Given the description of an element on the screen output the (x, y) to click on. 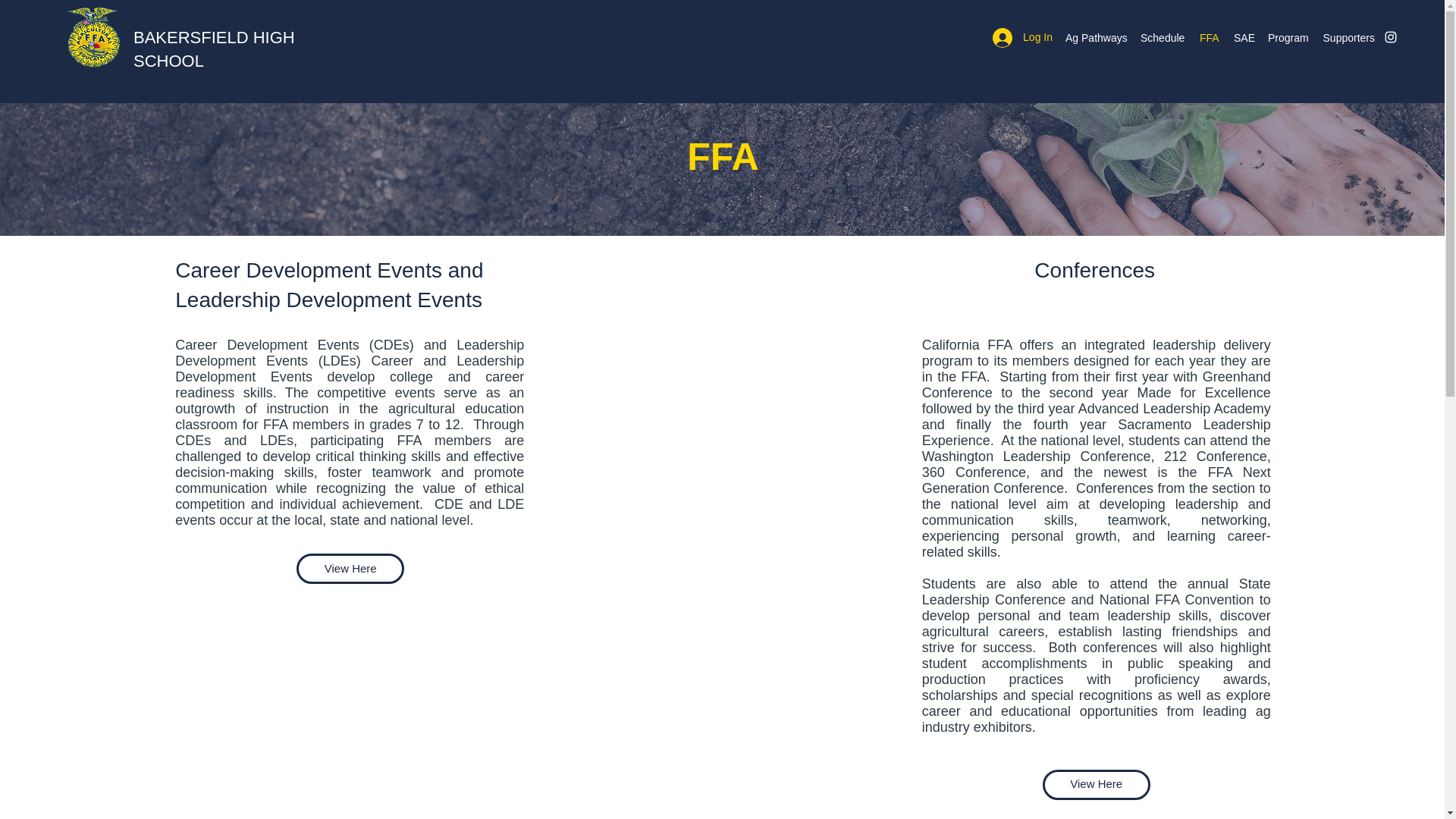
Supporters (1347, 37)
View Here (350, 568)
SAE (1242, 37)
FFA (1208, 37)
BAKERSFIELD HIGH SCHOOL (214, 48)
Ag Pathways (1095, 37)
Schedule (1162, 37)
Log In (1021, 36)
View Here (1096, 784)
Program (1287, 37)
